Given the description of an element on the screen output the (x, y) to click on. 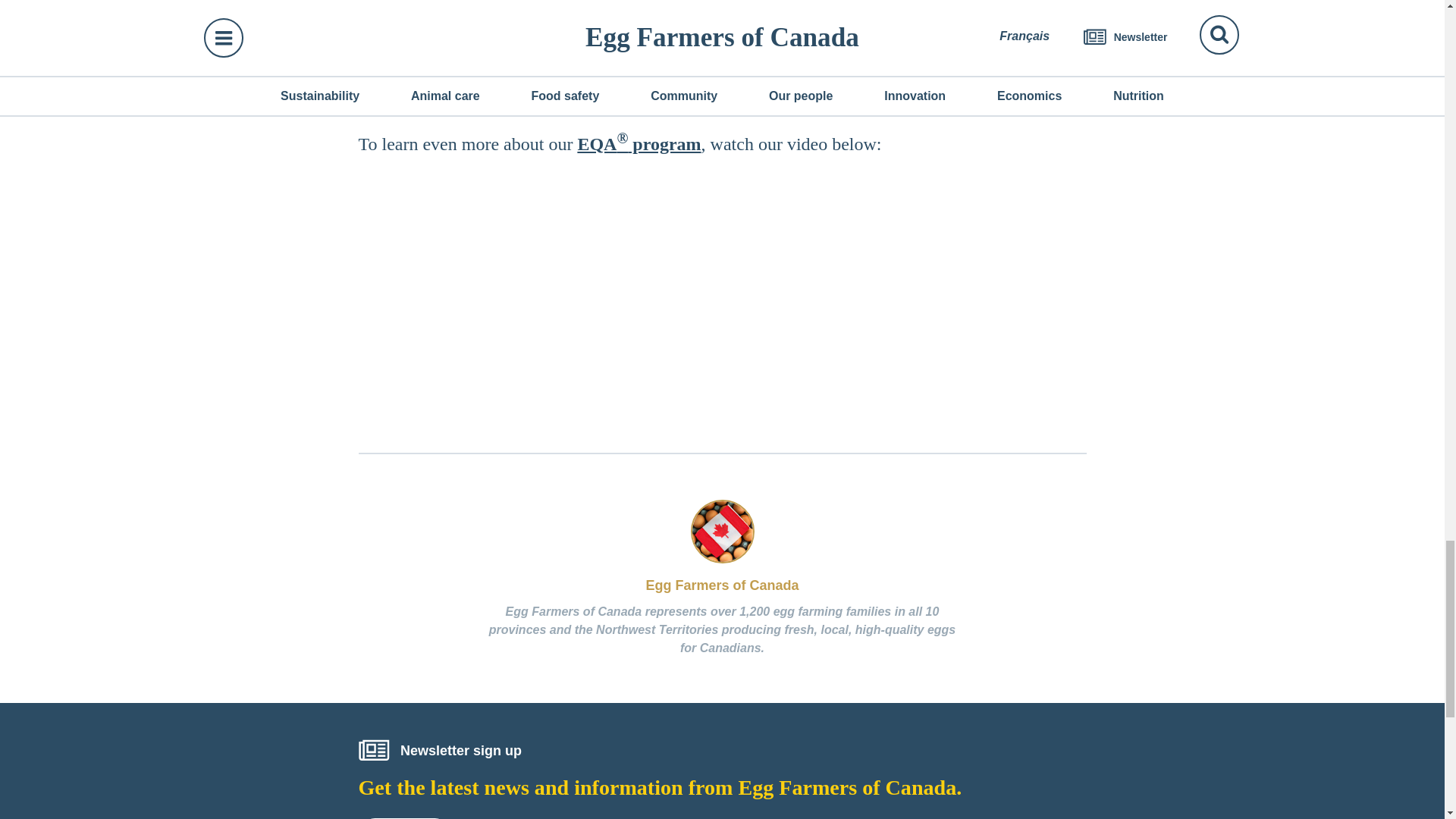
Egg Farmers of Canada: New Egg Quality Assurance Program (721, 300)
